Given the description of an element on the screen output the (x, y) to click on. 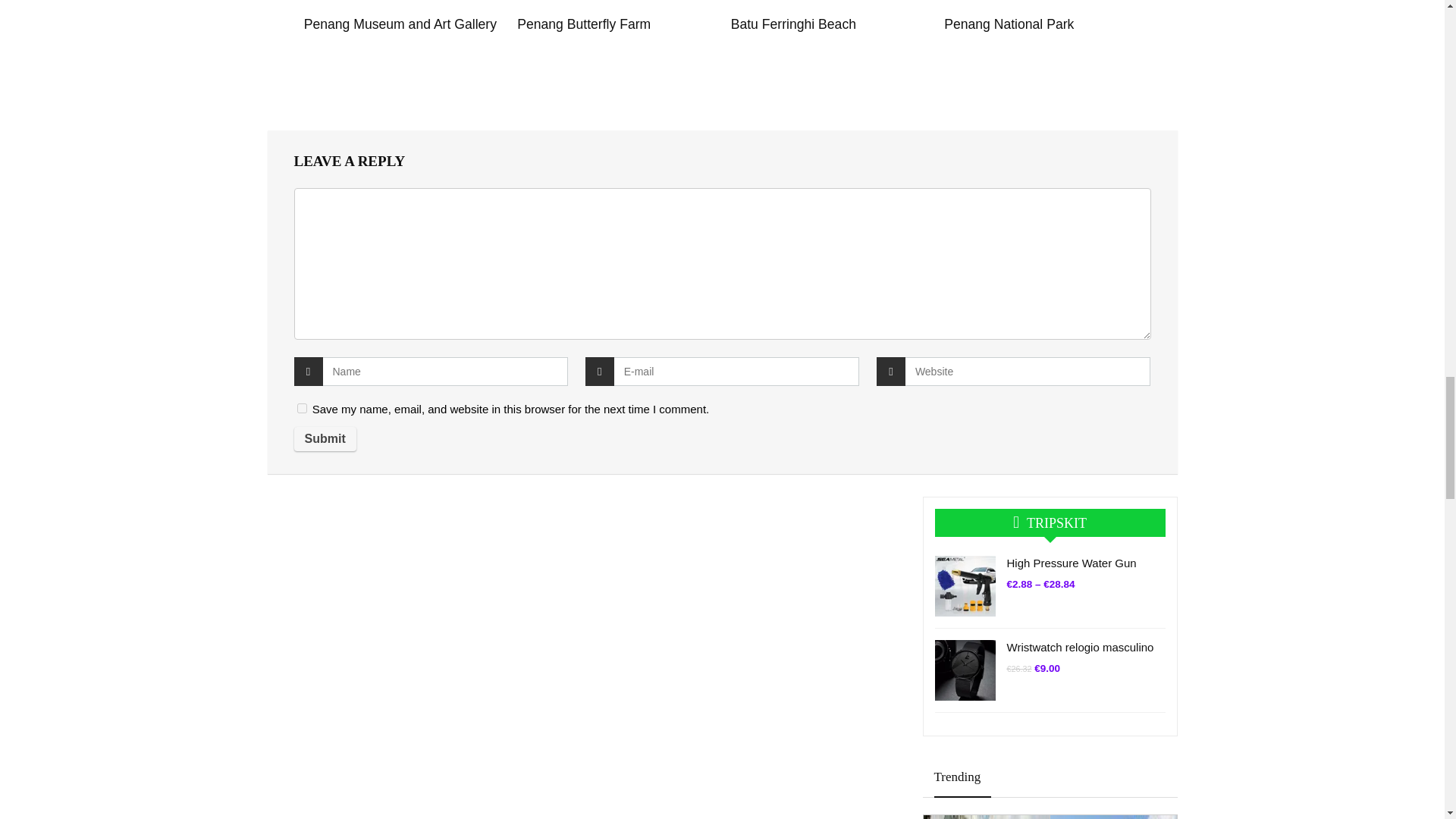
yes (302, 408)
Submit (325, 438)
